Given the description of an element on the screen output the (x, y) to click on. 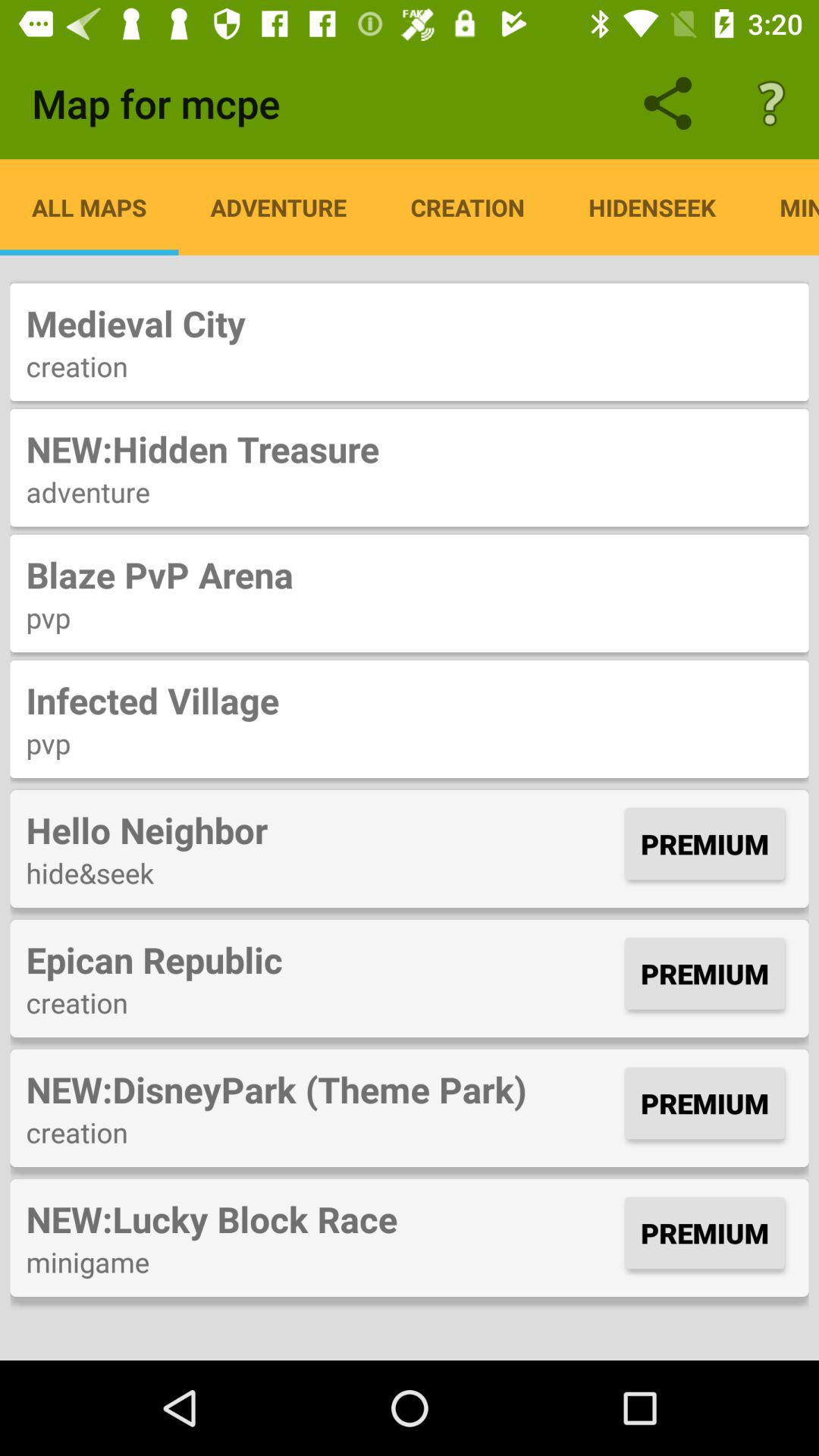
open icon below hide&seek item (321, 959)
